Given the description of an element on the screen output the (x, y) to click on. 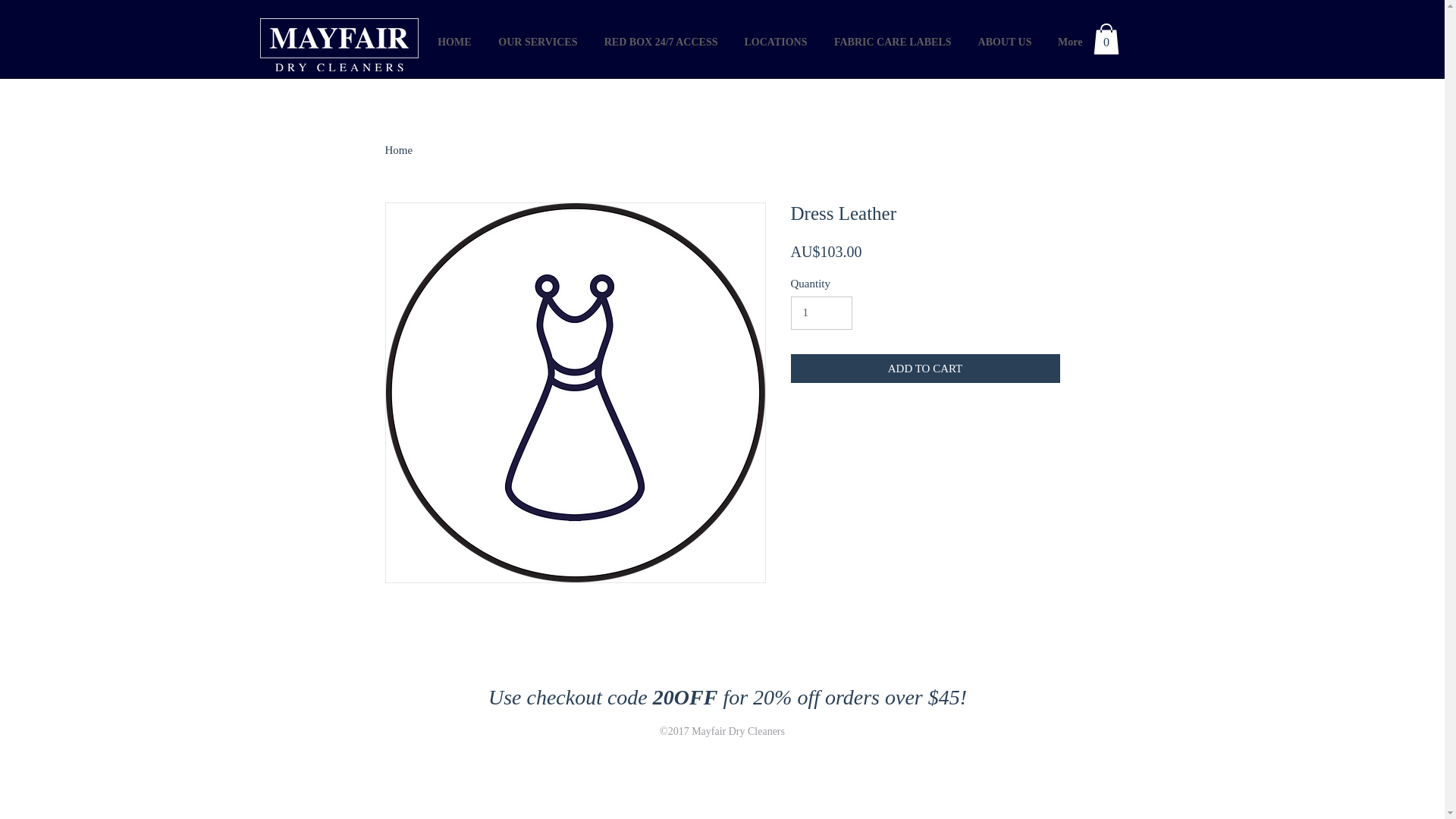
ABOUT US Element type: text (1003, 41)
Home Element type: text (399, 150)
FABRIC CARE LABELS Element type: text (891, 41)
RED BOX 24/7 ACCESS Element type: text (658, 41)
ADD TO CART Element type: text (924, 367)
0 Element type: text (1106, 38)
LOCATIONS Element type: text (774, 41)
HOME Element type: text (451, 41)
OUR SERVICES Element type: text (535, 41)
